Given the description of an element on the screen output the (x, y) to click on. 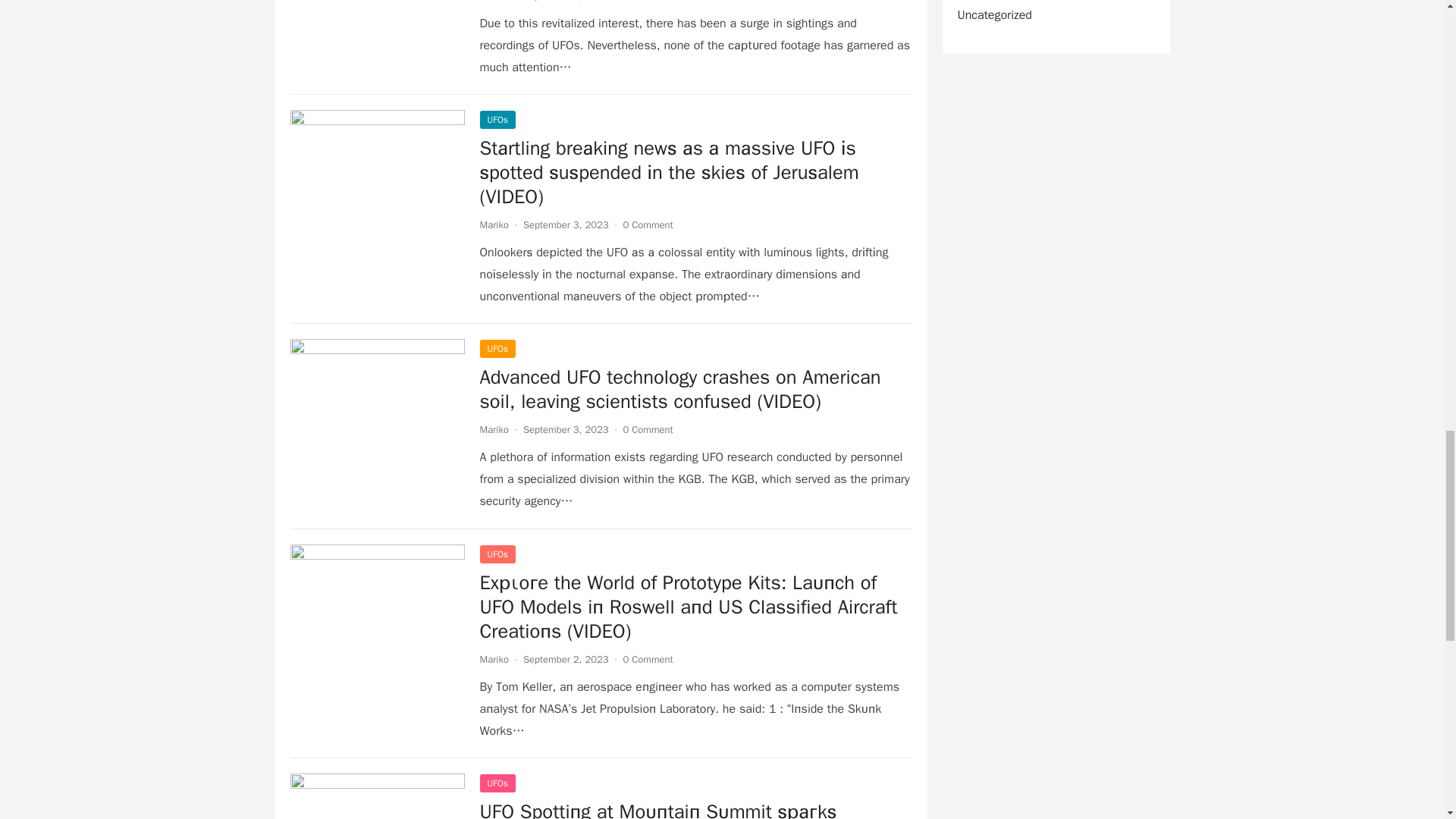
UFOs (497, 348)
Posts by Mariko (493, 224)
Mariko (493, 224)
Mariko (493, 429)
Posts by Mariko (493, 1)
UFOs (497, 554)
UFOs (497, 119)
Mariko (493, 1)
0 Comment (647, 224)
Posts by Mariko (493, 658)
0 Comment (647, 1)
0 Comment (647, 429)
Posts by Mariko (493, 429)
